Given the description of an element on the screen output the (x, y) to click on. 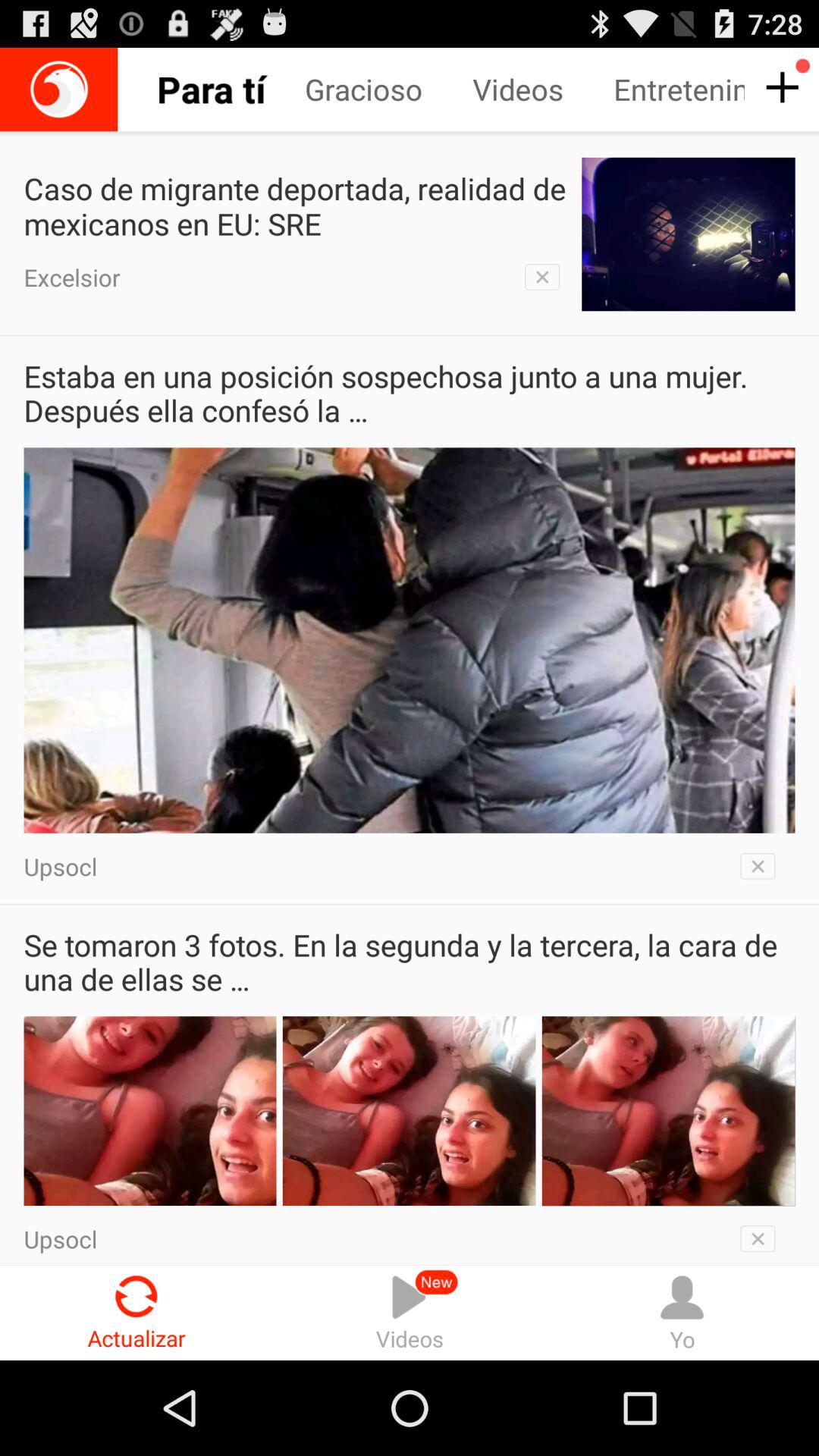
close image (762, 866)
